Given the description of an element on the screen output the (x, y) to click on. 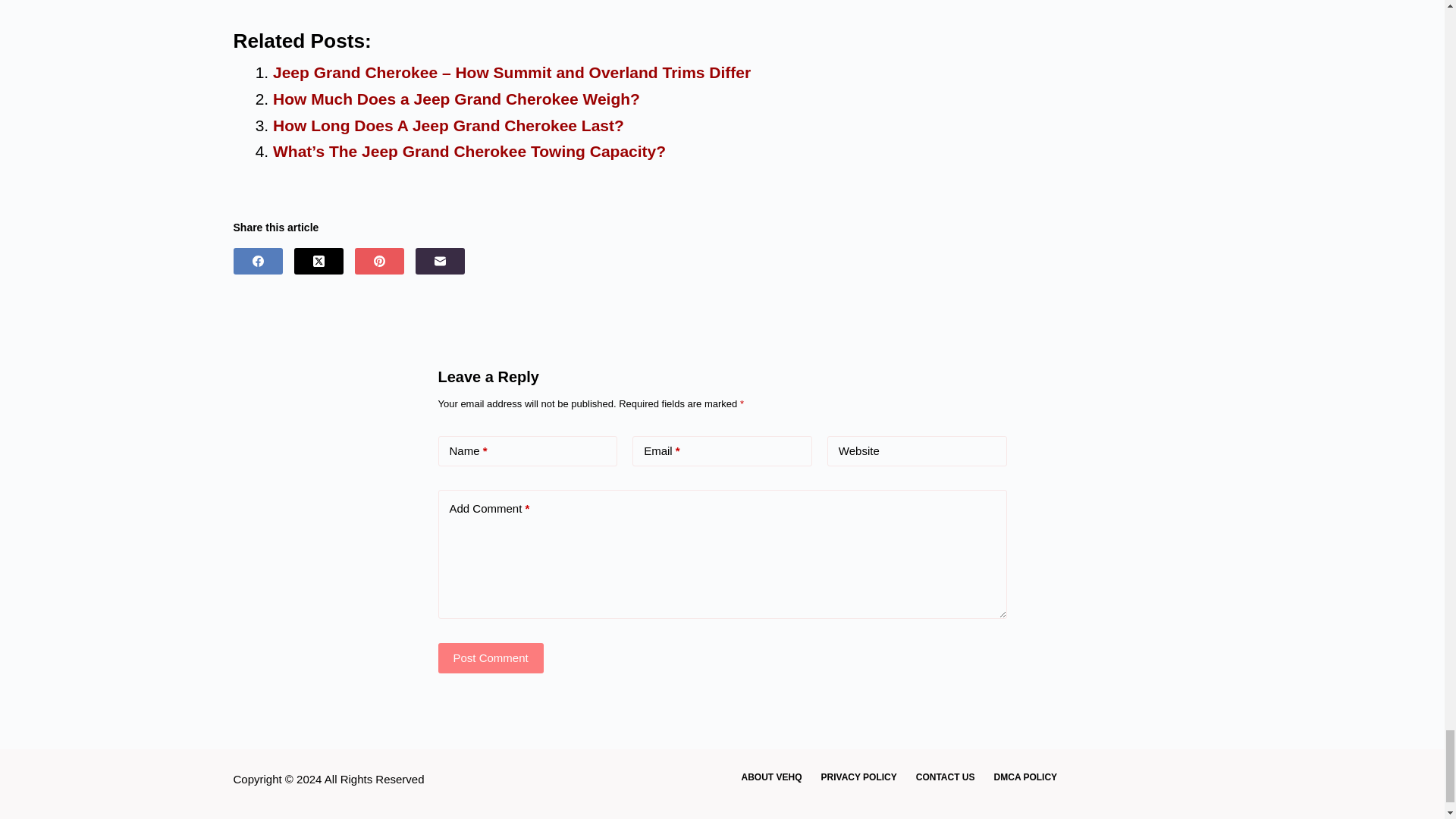
How Long Does A Jeep Grand Cherokee Last? (448, 125)
How Much Does a Jeep Grand Cherokee Weigh? (456, 98)
